Given the description of an element on the screen output the (x, y) to click on. 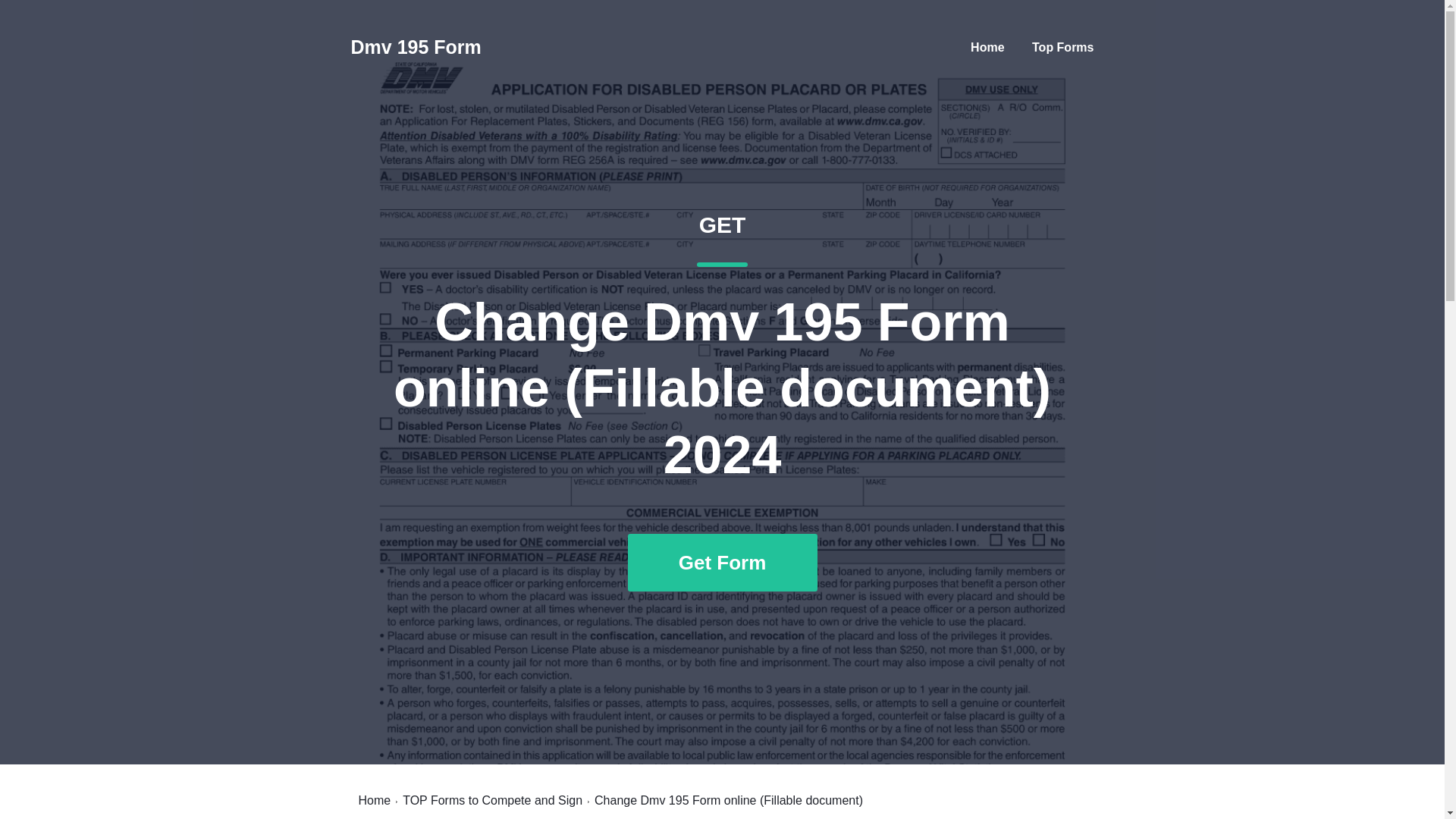
Dmv 195 Form (415, 46)
Top Forms (1062, 47)
Home (374, 800)
Home (987, 47)
TOP Forms to Compete and Sign (492, 800)
